Given the description of an element on the screen output the (x, y) to click on. 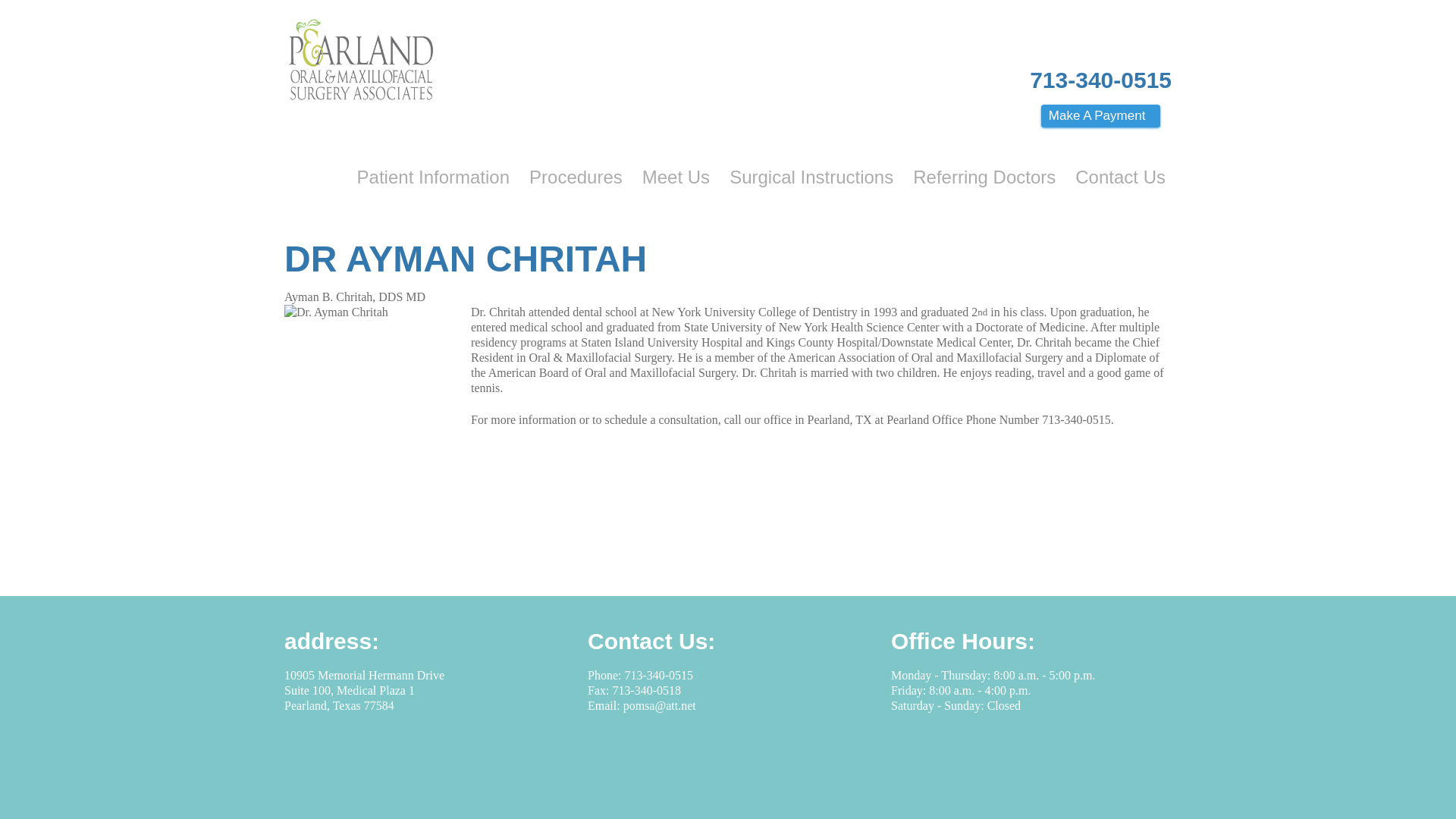
Make A Payment (1100, 115)
Patient Information (432, 178)
Procedures (575, 178)
